Given the description of an element on the screen output the (x, y) to click on. 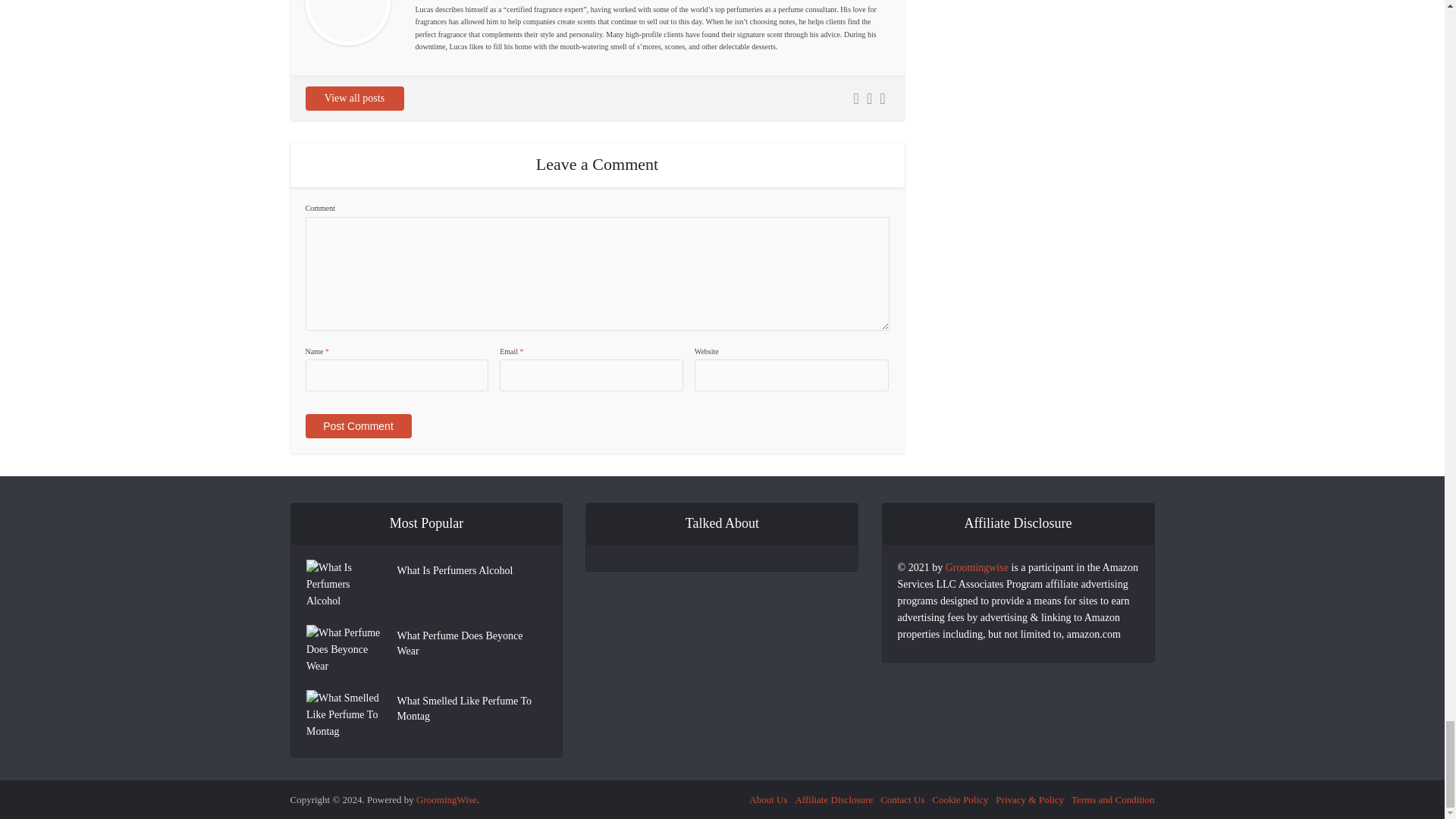
Post Comment (357, 426)
